Given the description of an element on the screen output the (x, y) to click on. 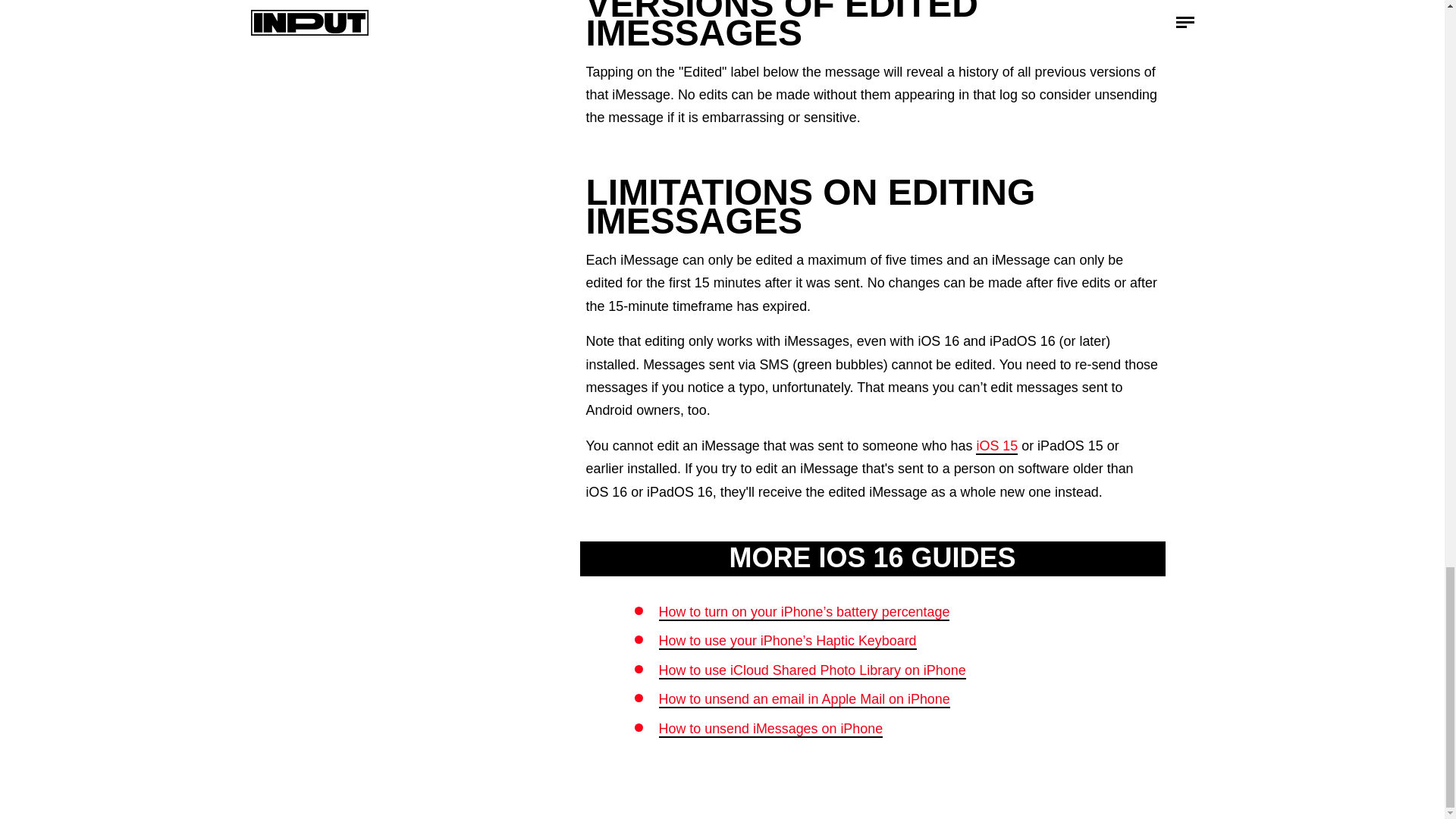
How to unsend an email in Apple Mail on iPhone (803, 699)
How to use iCloud Shared Photo Library on iPhone (811, 670)
iOS 15 (996, 446)
How to unsend iMessages on iPhone (770, 729)
